Given the description of an element on the screen output the (x, y) to click on. 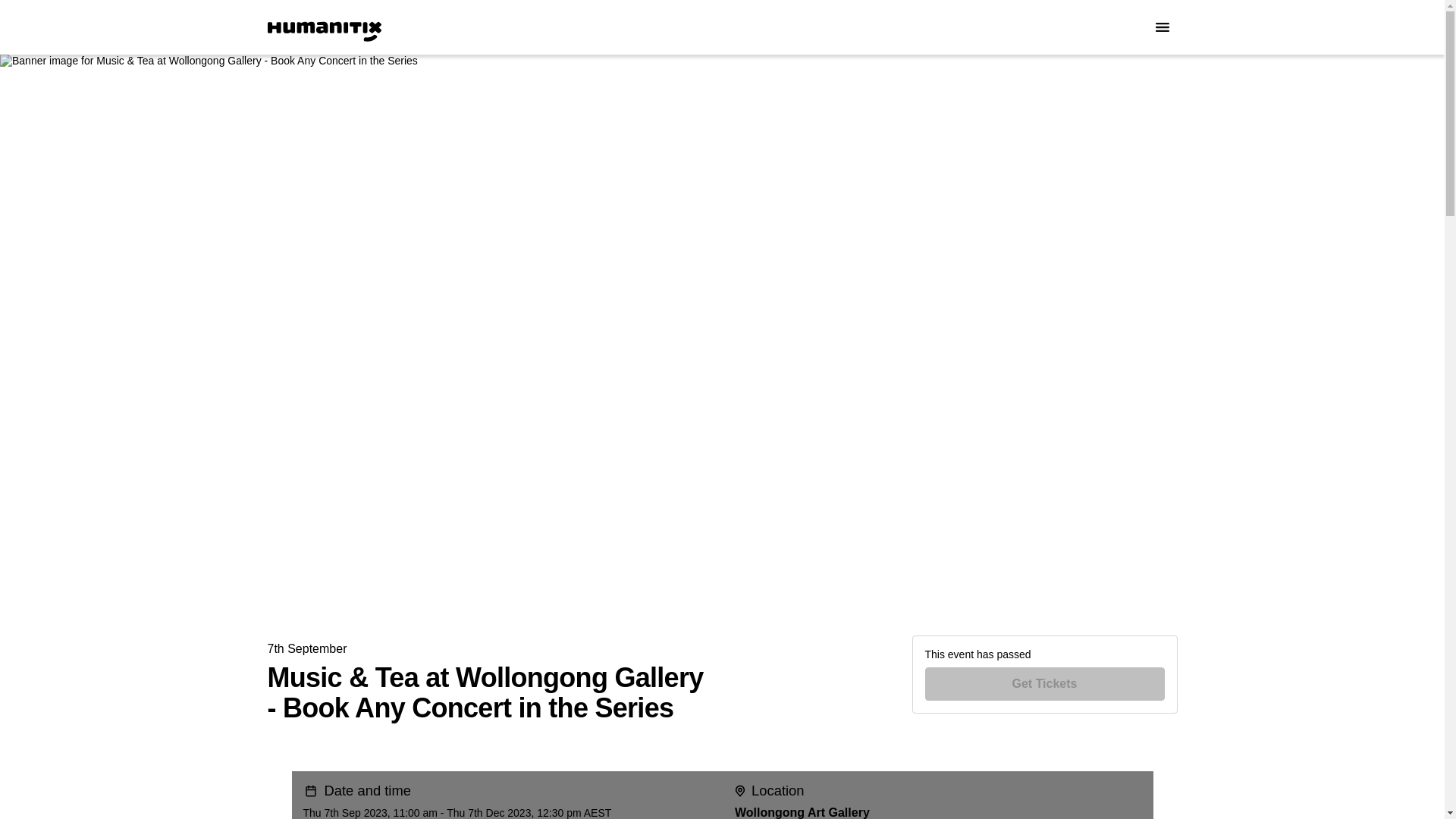
Skip to Content (18, 18)
Get Tickets (1044, 684)
